Given the description of an element on the screen output the (x, y) to click on. 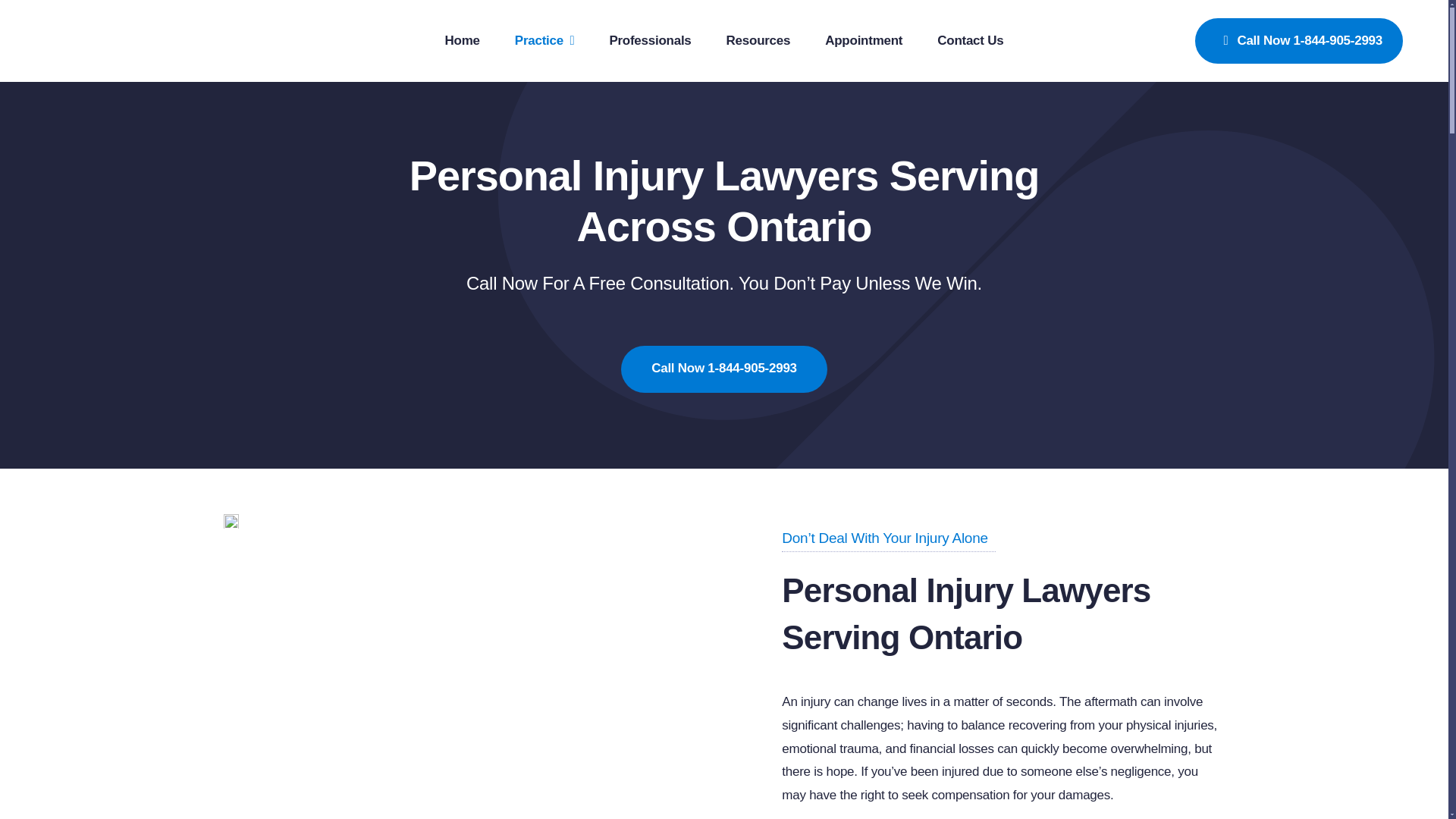
Resources (758, 40)
Contact Us (970, 40)
business-task-completion (231, 521)
Call Now 1-844-905-2993 (724, 369)
Professionals (649, 40)
Call Now 1-844-905-2993 (1299, 40)
Home (462, 40)
Appointment (863, 40)
Practice (545, 40)
